Given the description of an element on the screen output the (x, y) to click on. 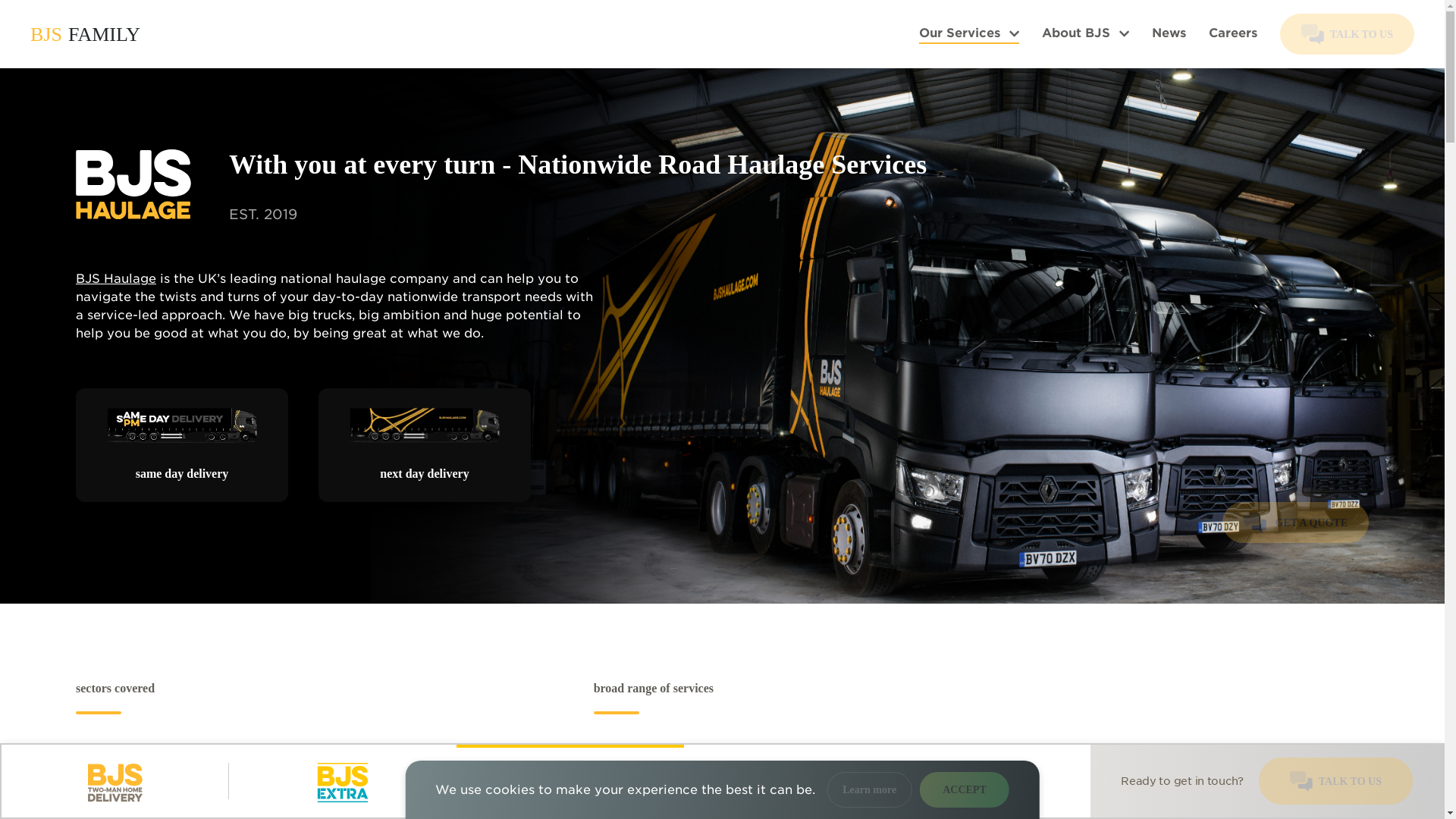
Learn more (869, 789)
GET A QUOTE (1295, 522)
TALK TO US (1335, 780)
BJS Haulage (115, 278)
TALK TO US (1346, 33)
ACCEPT (964, 789)
